Given the description of an element on the screen output the (x, y) to click on. 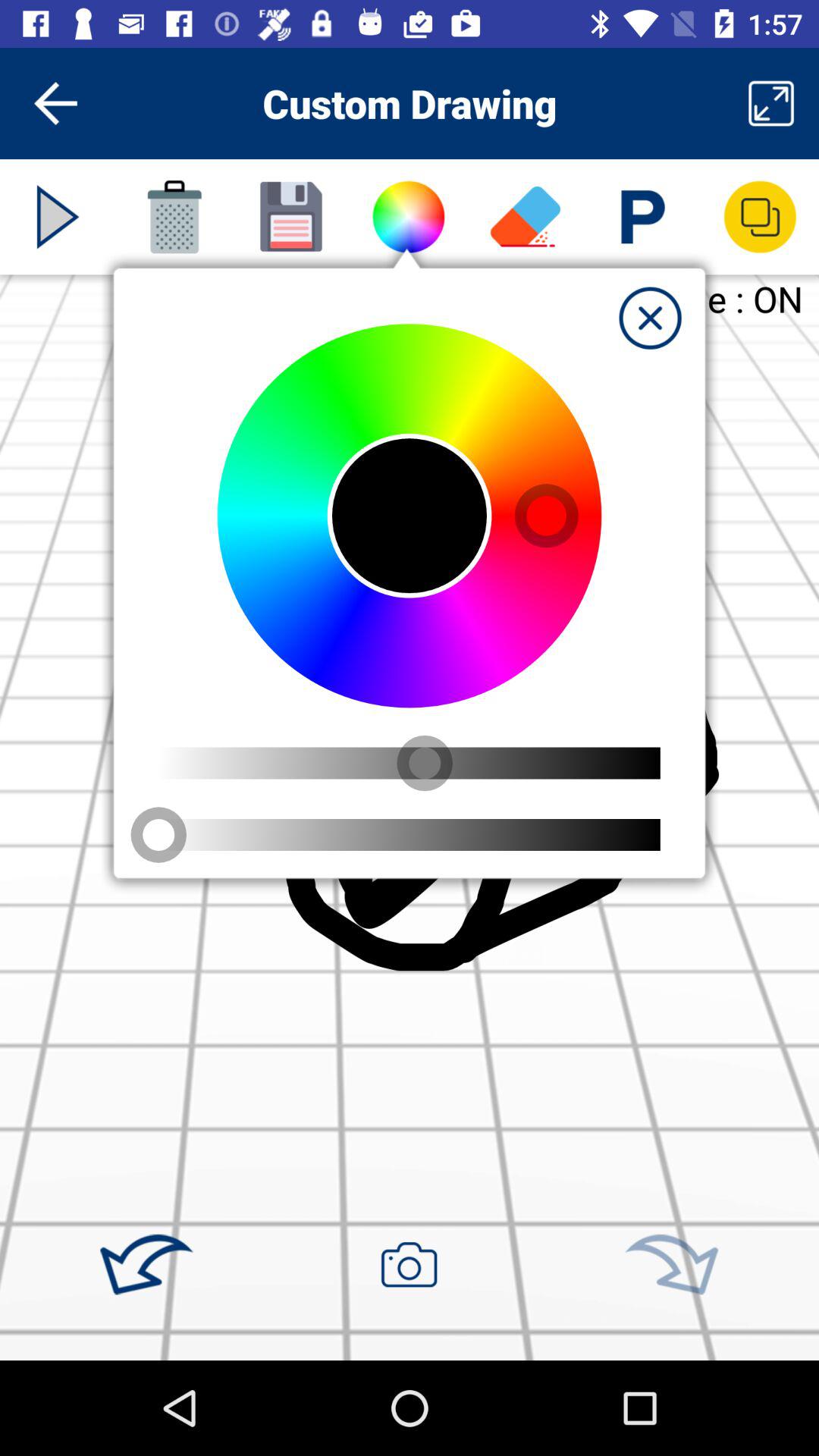
exit window (650, 318)
